Given the description of an element on the screen output the (x, y) to click on. 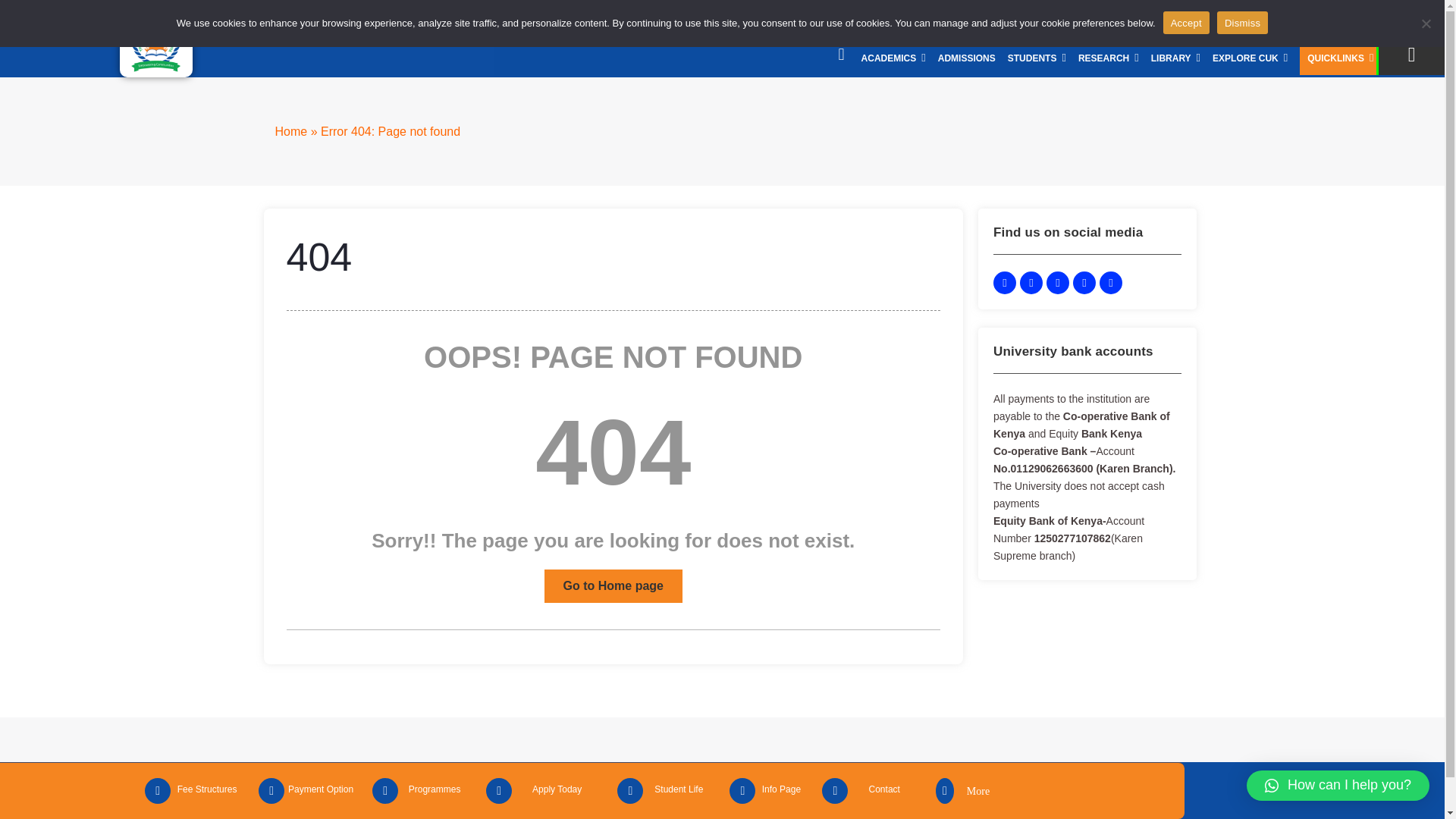
Gallery (1196, 18)
Student Online Application (824, 18)
ACADEMICS (893, 58)
Conference Center (1261, 18)
Staff and CV Portals (1044, 18)
Main Website (1372, 18)
Tenders (1156, 18)
Careers (1113, 18)
Dismiss (1425, 23)
FAQs (1323, 18)
